Given the description of an element on the screen output the (x, y) to click on. 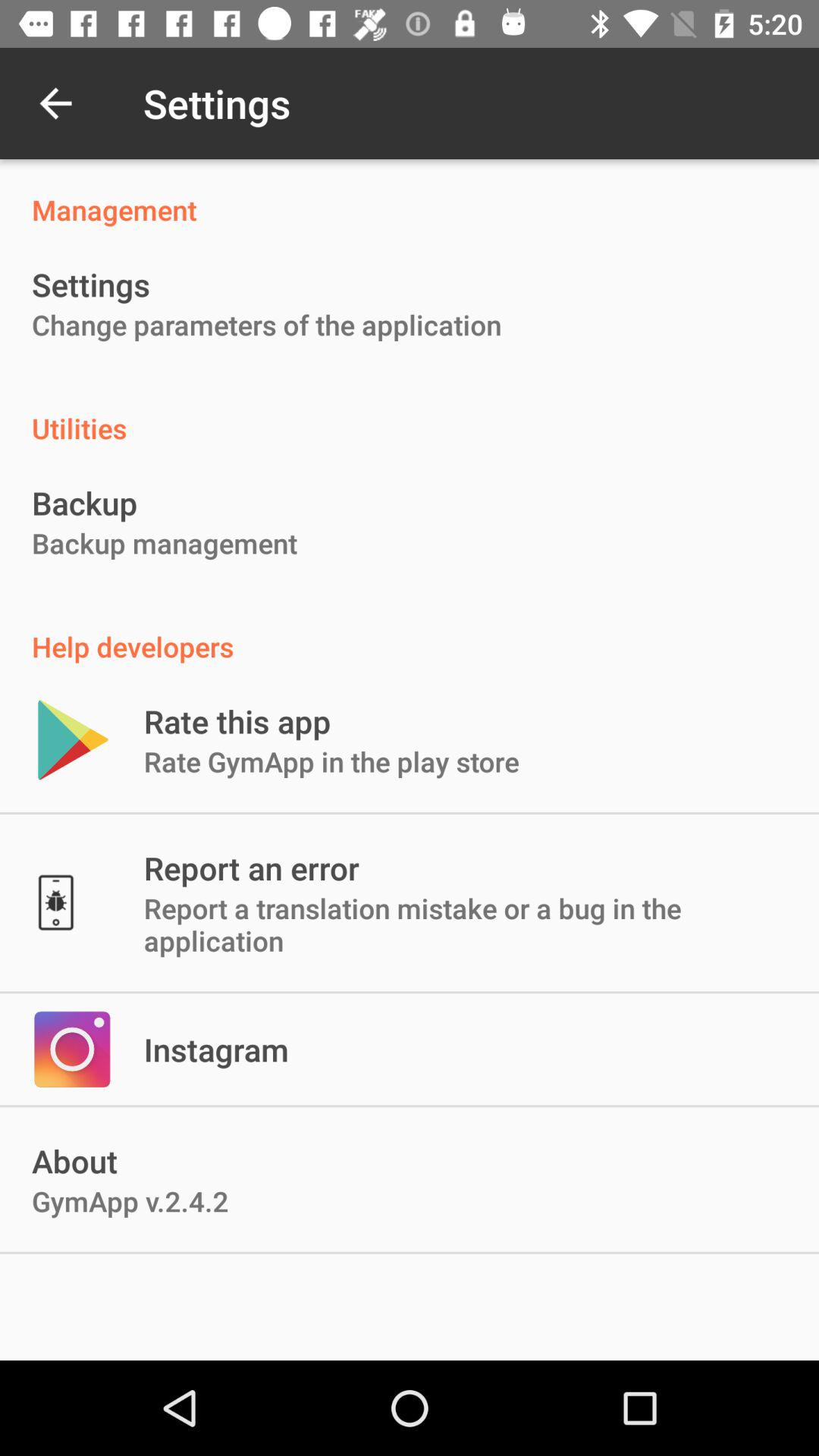
turn on the icon next to the settings item (55, 103)
